Given the description of an element on the screen output the (x, y) to click on. 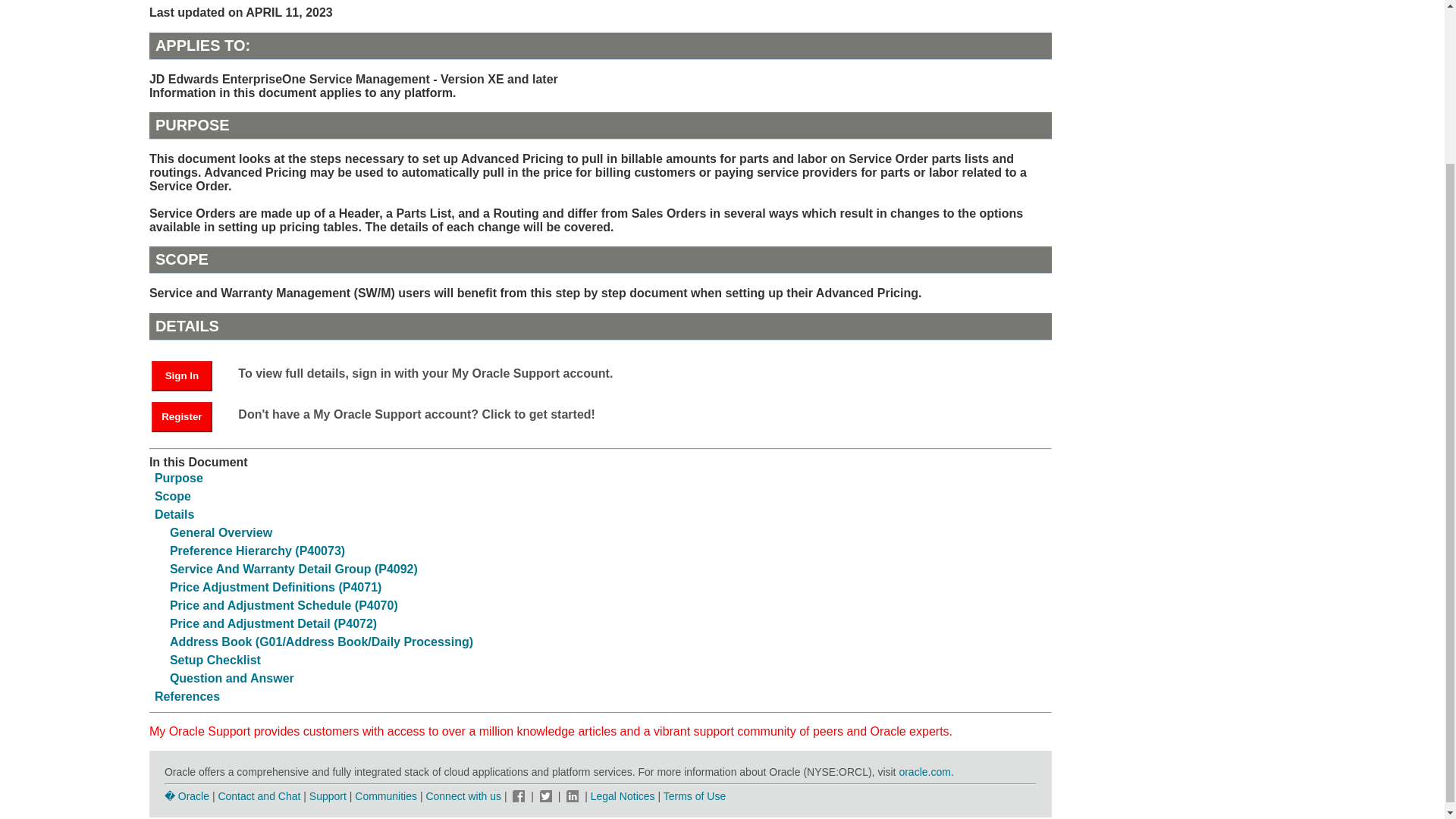
Register (181, 417)
General Overview (221, 532)
Contact and Chat (257, 796)
Connect with us (464, 796)
Sign In (181, 376)
Setup Checklist (215, 659)
Support (327, 796)
oracle.com (924, 771)
References (186, 696)
oracle.com (924, 771)
Register (189, 415)
Question and Answer (232, 677)
Purpose (178, 477)
Scope (172, 495)
Legal Notices (623, 796)
